Given the description of an element on the screen output the (x, y) to click on. 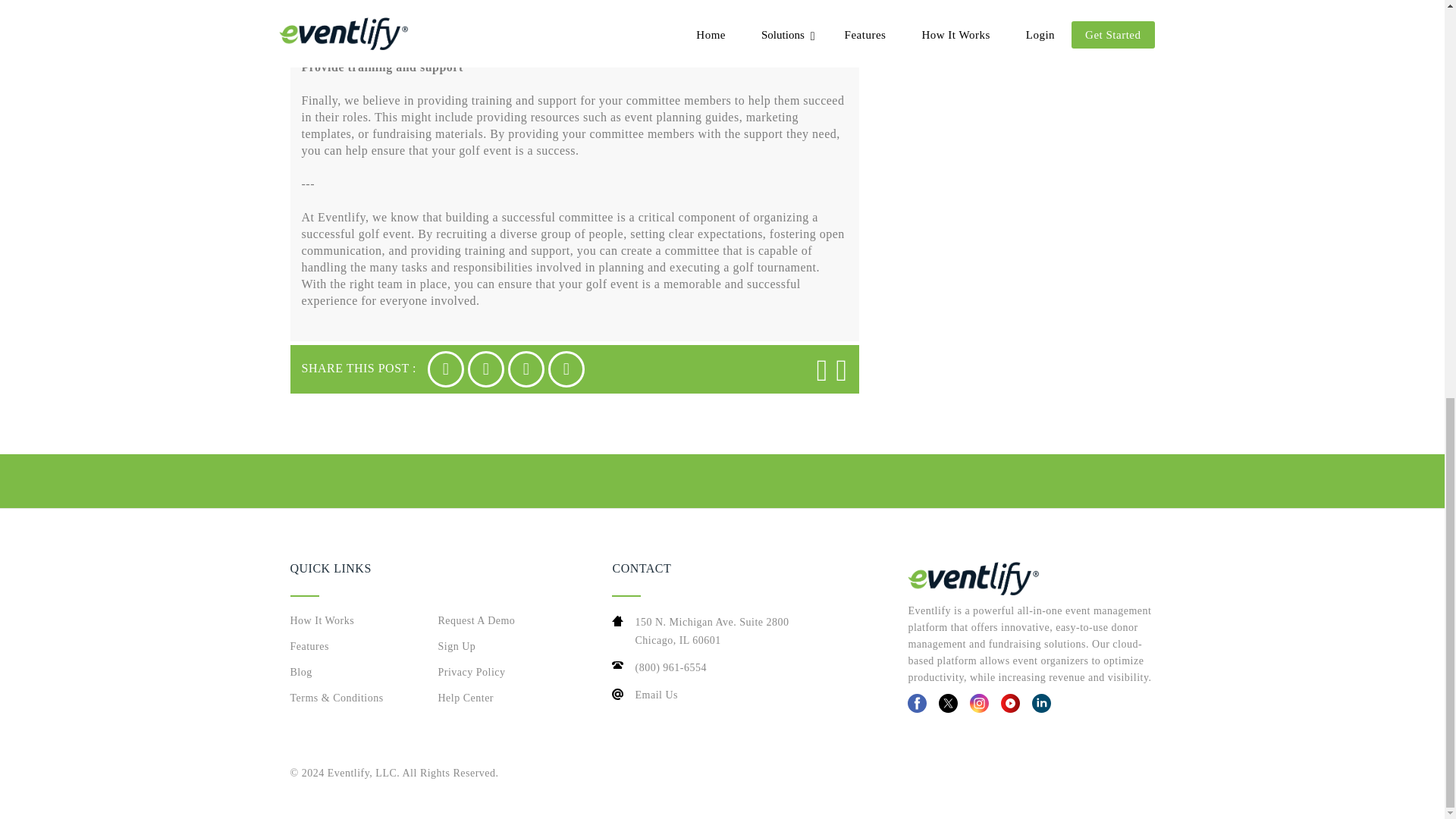
Help Center (500, 700)
Features (746, 631)
Sign Up (351, 648)
Privacy Policy (500, 648)
Email Us (500, 674)
How It Works (746, 695)
Blog (351, 622)
Request A Demo (351, 674)
